Given the description of an element on the screen output the (x, y) to click on. 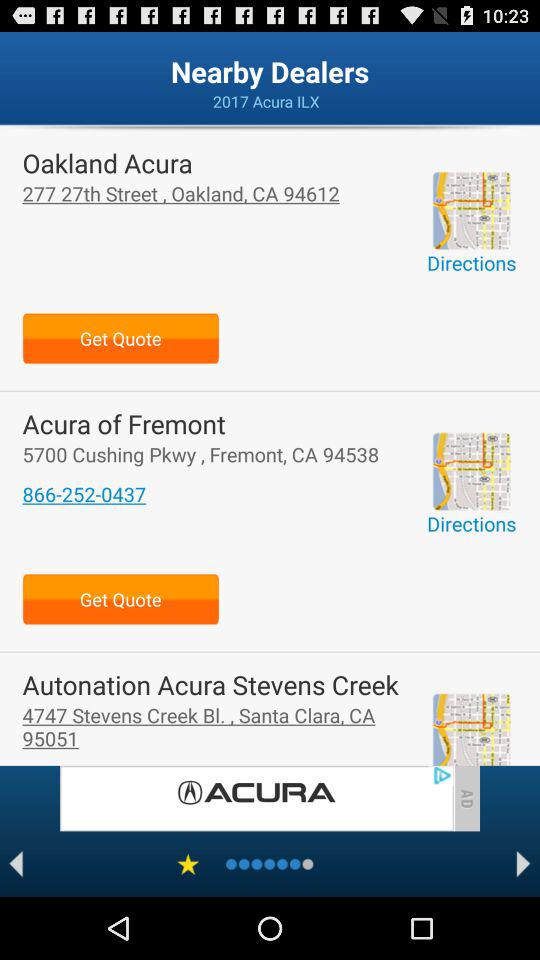
view the location (471, 729)
